Given the description of an element on the screen output the (x, y) to click on. 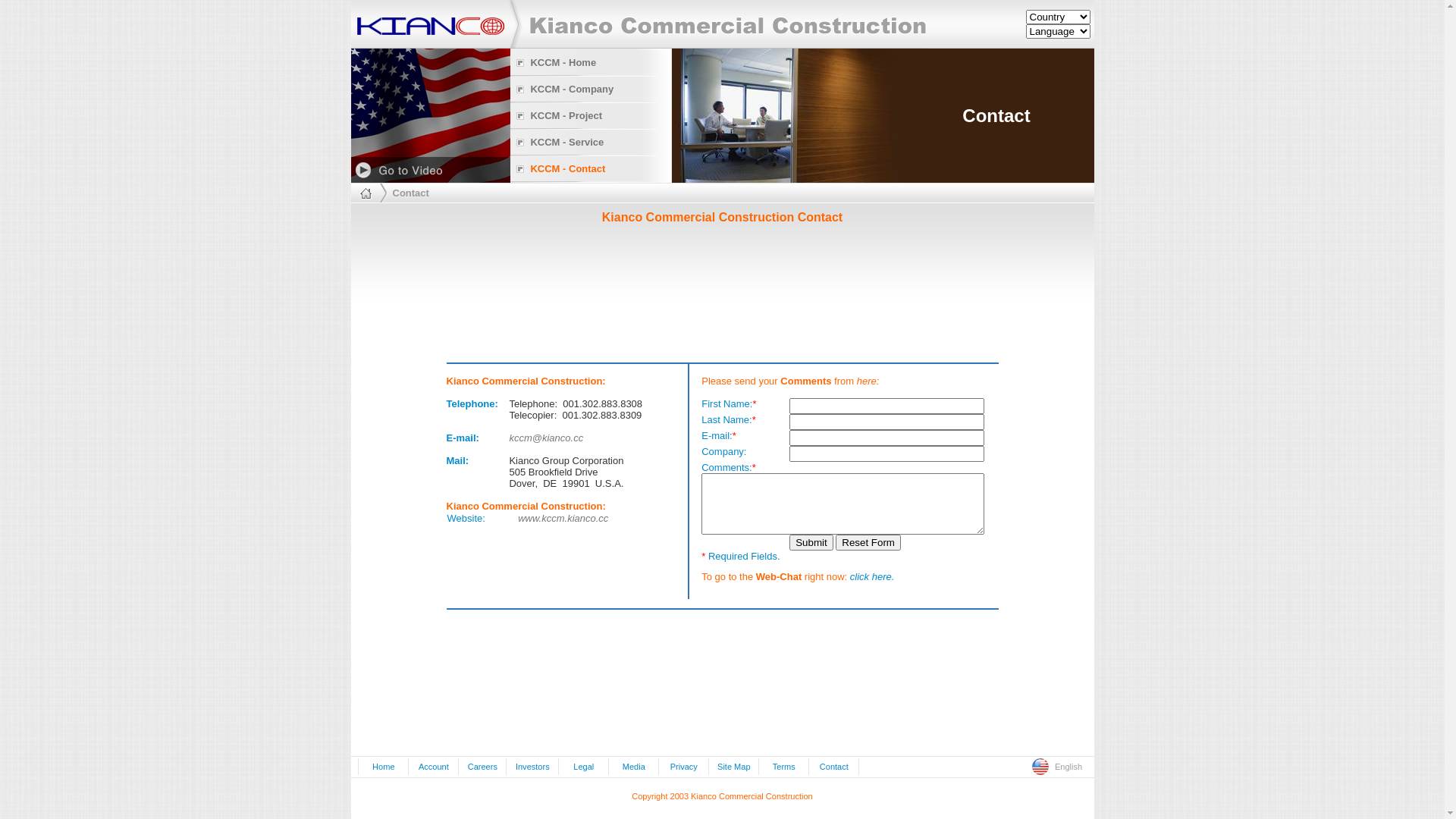
KCCM - Company Element type: text (571, 89)
www.kccm.kianco.cc Element type: text (562, 518)
KCCM - Service Element type: text (566, 142)
Account Element type: text (433, 766)
KCCM - Contact Element type: text (567, 168)
KCCM - Project Element type: text (566, 115)
Terms Element type: text (783, 766)
Contact Element type: text (833, 766)
kccm@kianco.cc Element type: text (545, 437)
Home Element type: text (383, 766)
Legal Element type: text (583, 766)
KCCM - Home Element type: text (563, 62)
Careers Element type: text (482, 766)
Privacy Element type: text (683, 766)
Media Element type: text (633, 766)
Site Map Element type: text (733, 766)
Investors Element type: text (532, 766)
Submit Element type: text (810, 542)
